Given the description of an element on the screen output the (x, y) to click on. 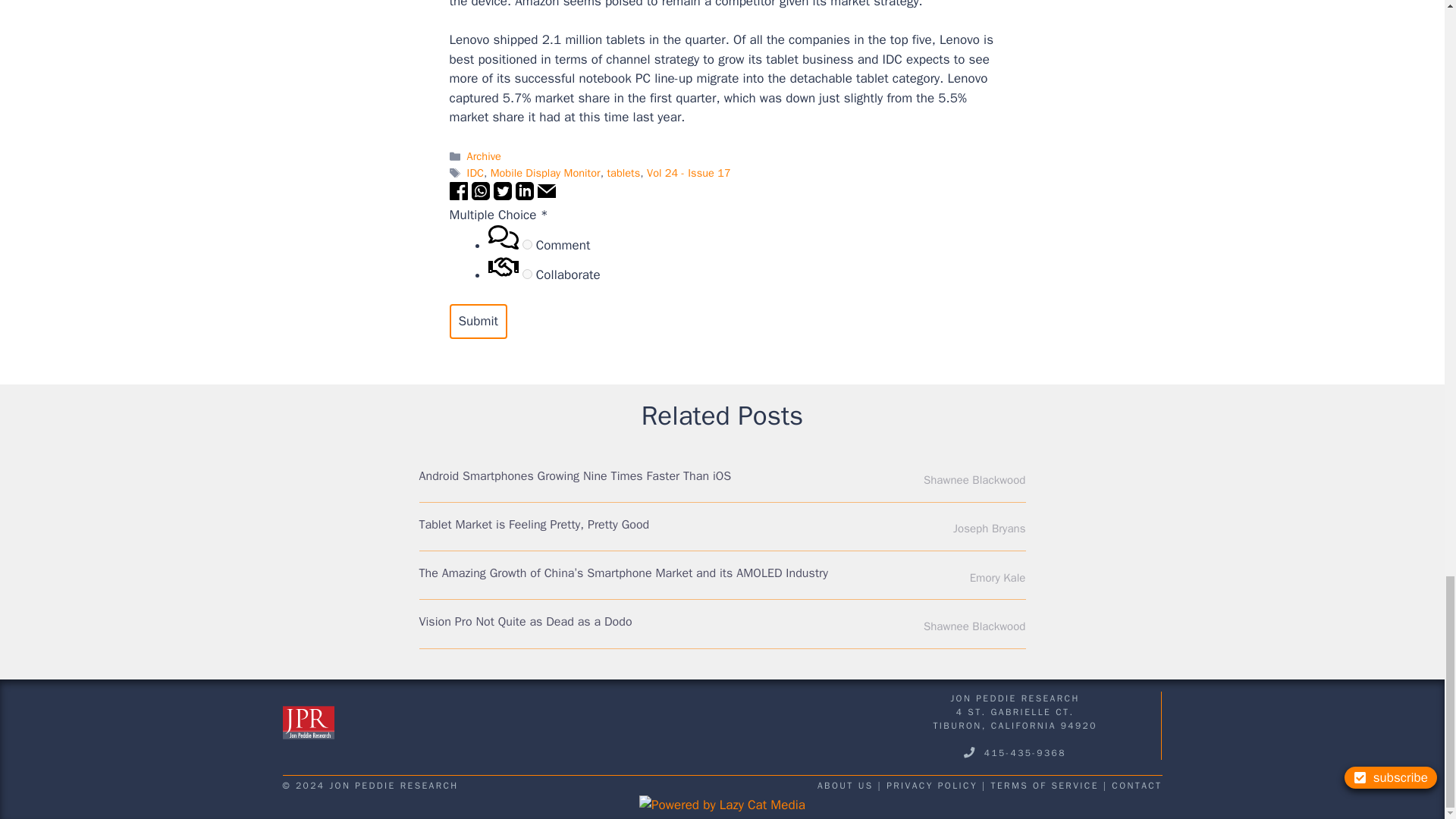
IDC (475, 172)
Comment (527, 244)
Android Smartphones Growing Nine Times Faster Than iOS (574, 476)
PRIVACY POLICY (931, 785)
Collaborate (527, 274)
tablets (623, 172)
TERMS OF SERVICE (1045, 785)
Tablet Market is Feeling Pretty, Pretty Good (534, 524)
Mobile Display Monitor (544, 172)
Archive (483, 155)
